Given the description of an element on the screen output the (x, y) to click on. 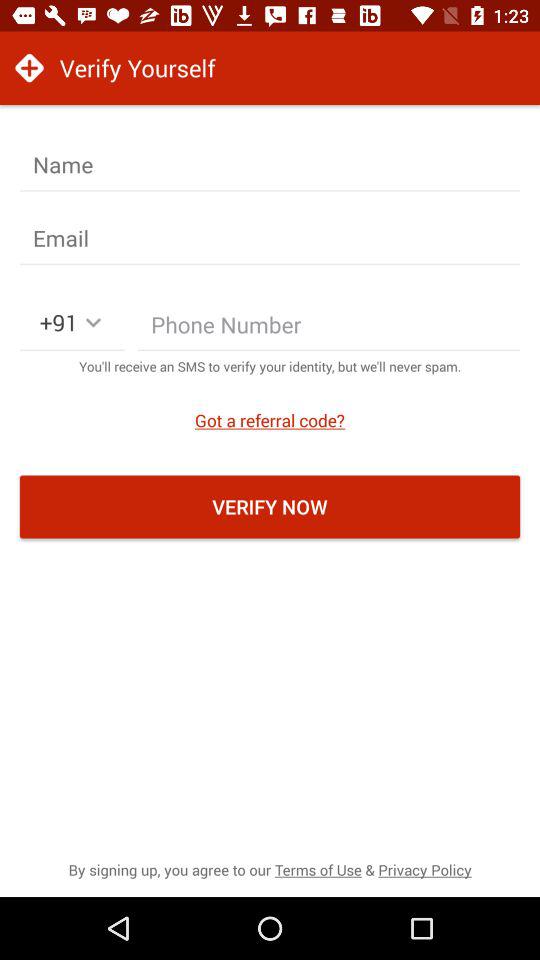
input name (269, 165)
